Given the description of an element on the screen output the (x, y) to click on. 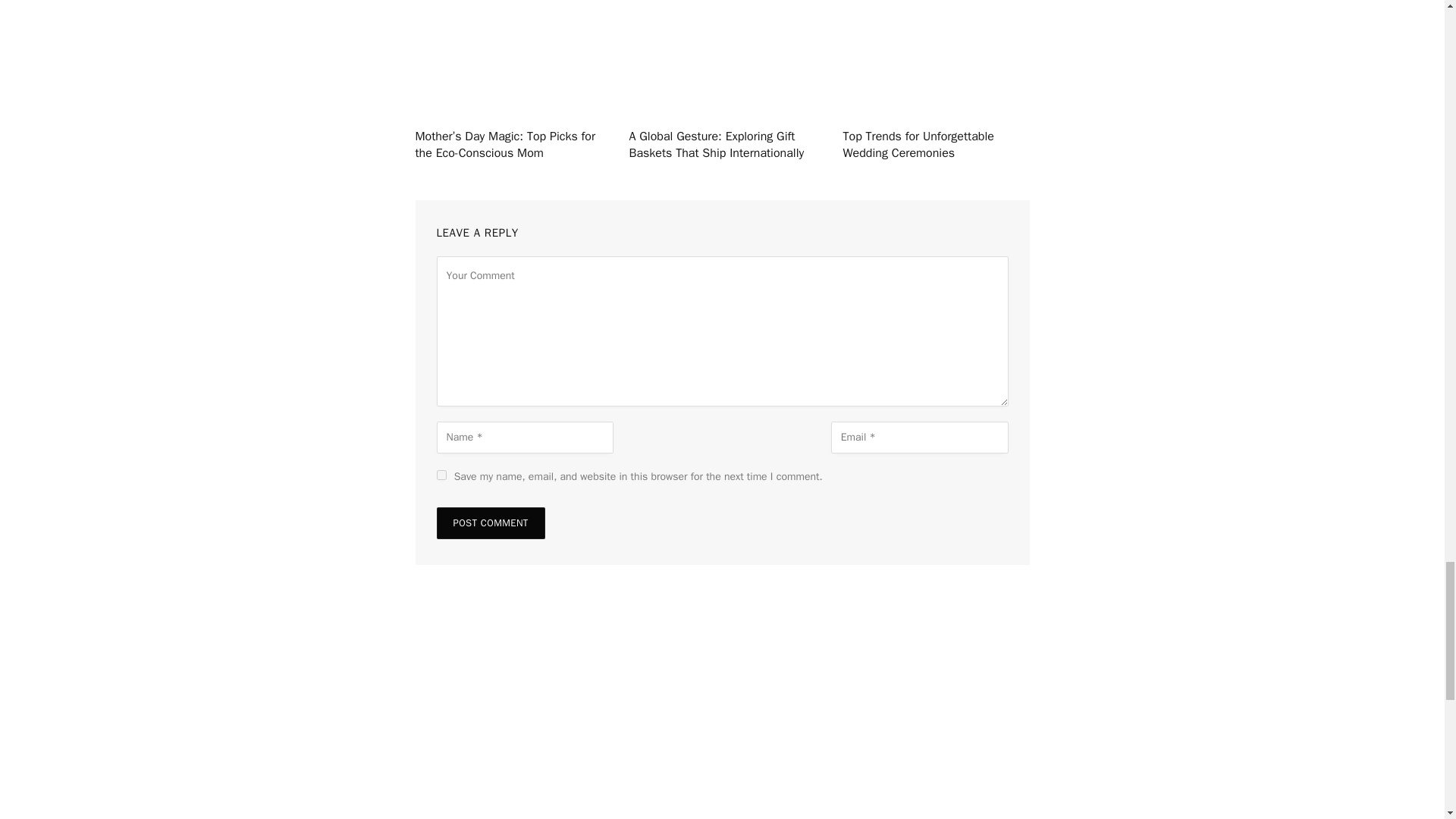
yes (441, 474)
Post Comment (490, 522)
